Given the description of an element on the screen output the (x, y) to click on. 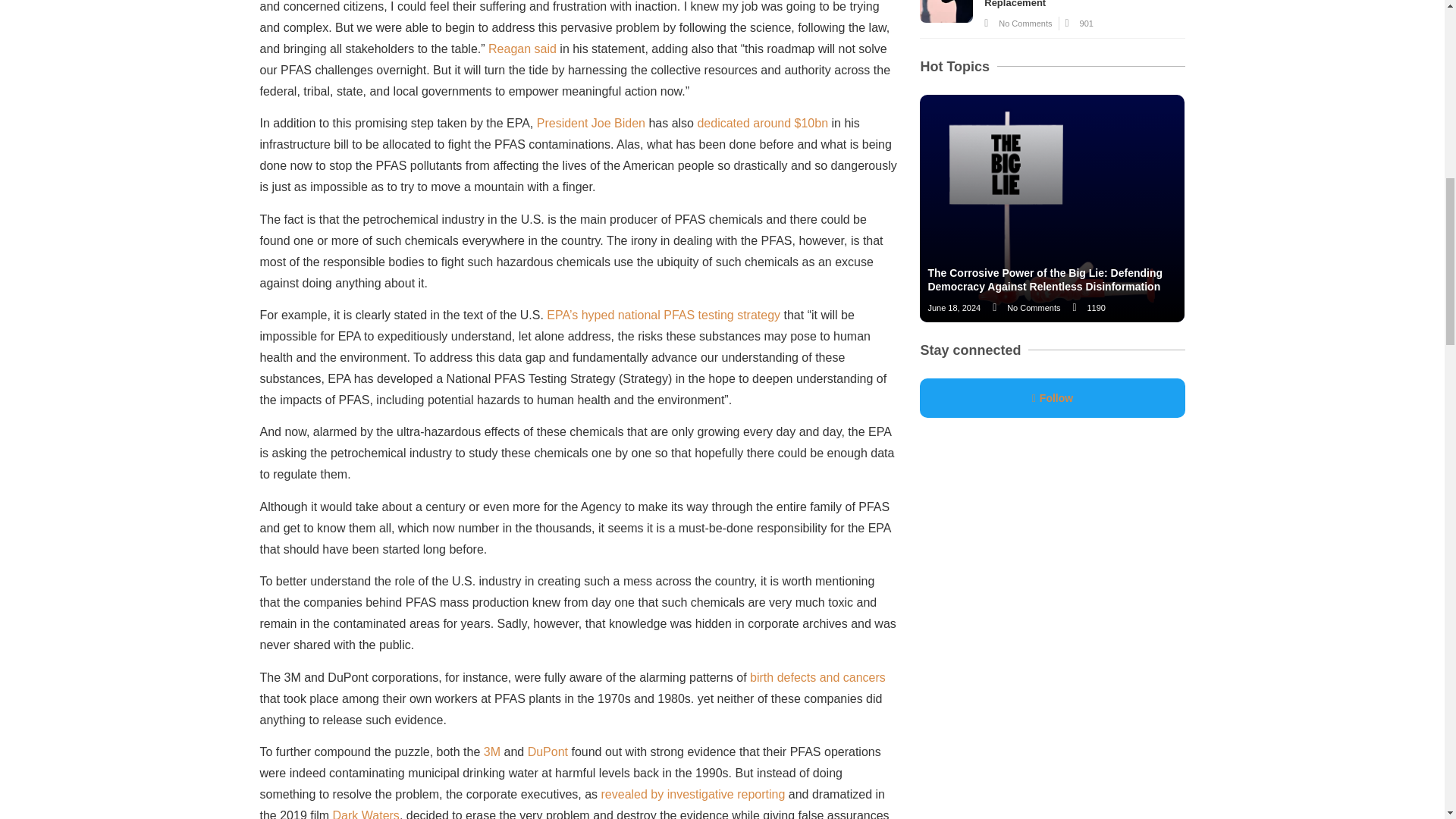
Dark Waters (365, 814)
Reagan said (521, 48)
by (656, 793)
reporting (760, 793)
revealed (624, 793)
DuPont (547, 751)
3M (491, 751)
investigative (699, 793)
President Joe Biden (591, 123)
birth defects and cancers (817, 676)
